Given the description of an element on the screen output the (x, y) to click on. 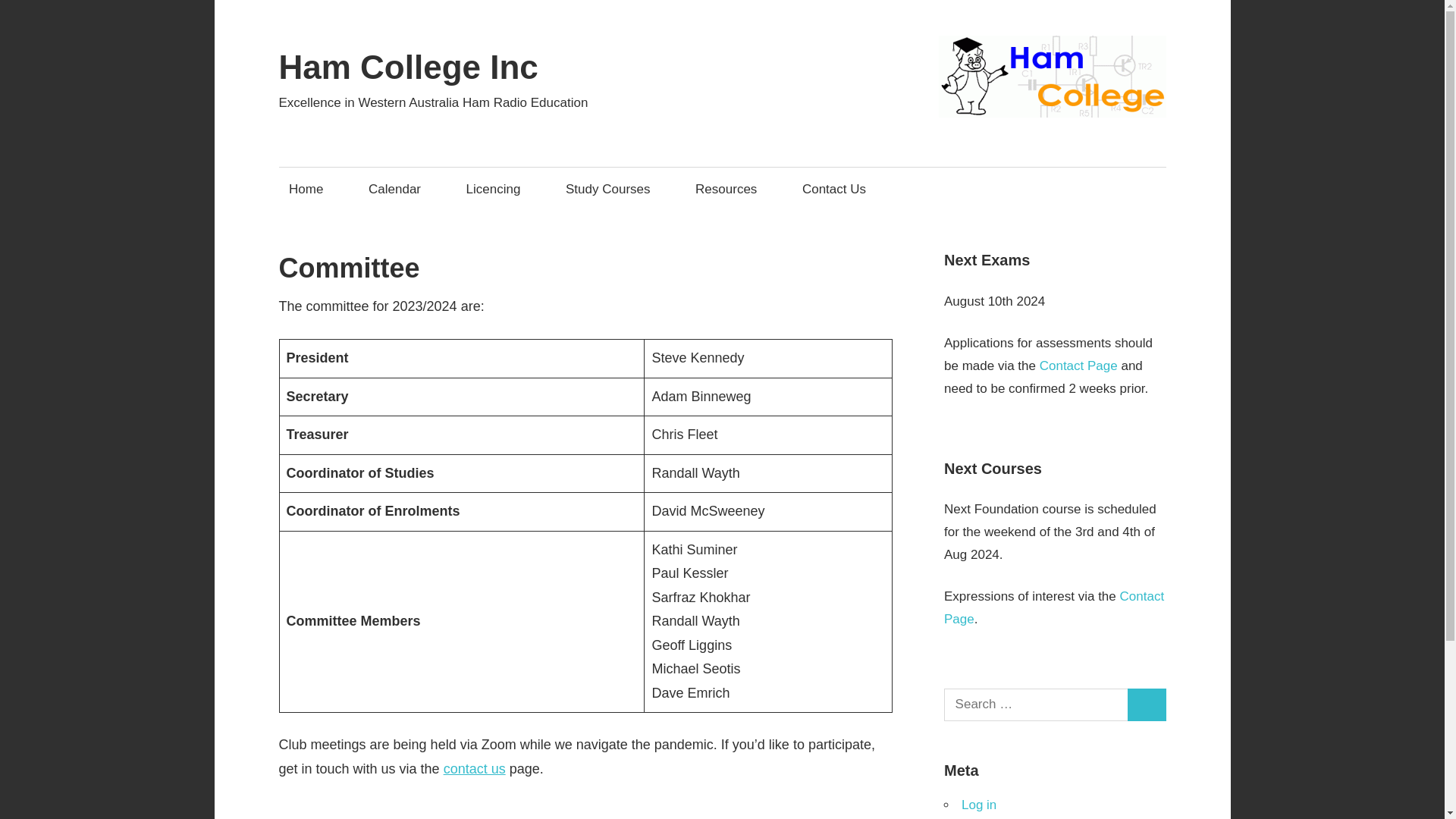
Ham College Inc (408, 66)
Log in (977, 804)
Resources (730, 189)
Study Courses (611, 189)
Contact Us (838, 189)
Search for: (1035, 704)
Calendar (398, 189)
Search (1146, 704)
Contact Page (1078, 365)
contact us (474, 768)
